Given the description of an element on the screen output the (x, y) to click on. 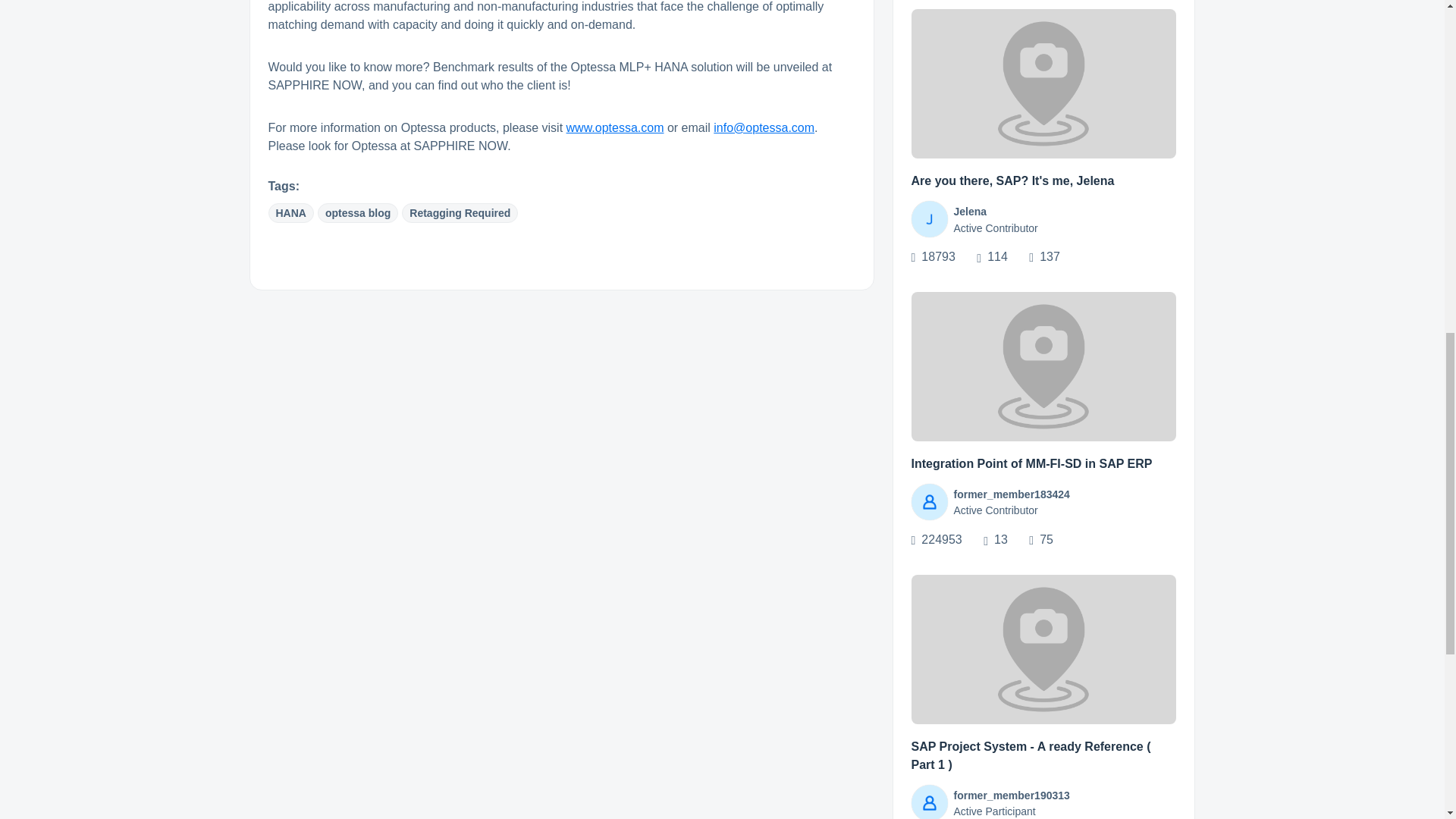
Jelena (970, 211)
Are you there, SAP? It's me, Jelena (1013, 180)
www.optessa.com (614, 127)
View article (1043, 83)
View profile (929, 218)
Retagging Required (459, 212)
optessa blog (357, 212)
HANA (290, 212)
Integration Point of MM-FI-SD in SAP ERP (1032, 463)
